Given the description of an element on the screen output the (x, y) to click on. 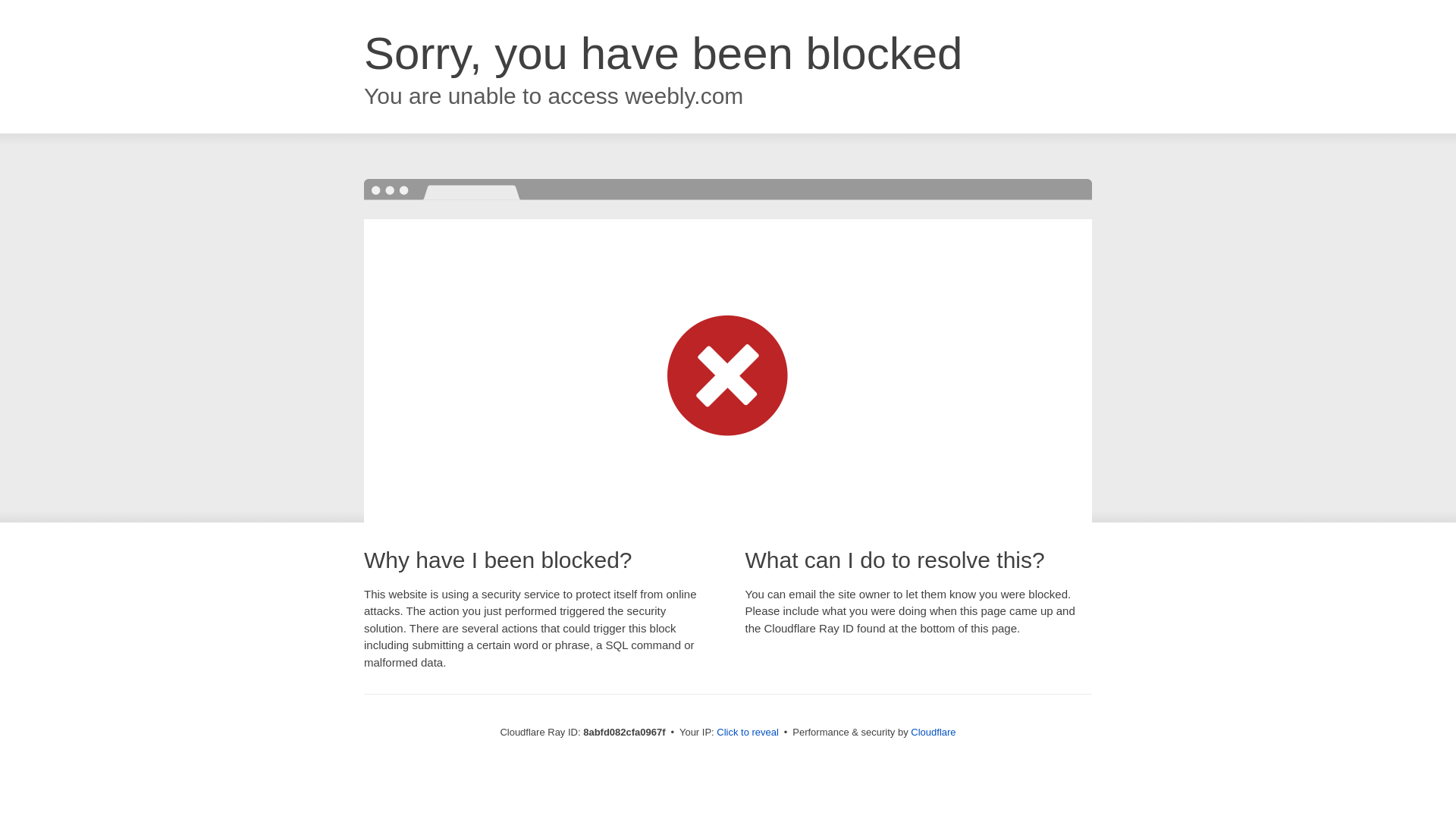
Click to reveal (747, 732)
Cloudflare (933, 731)
